Given the description of an element on the screen output the (x, y) to click on. 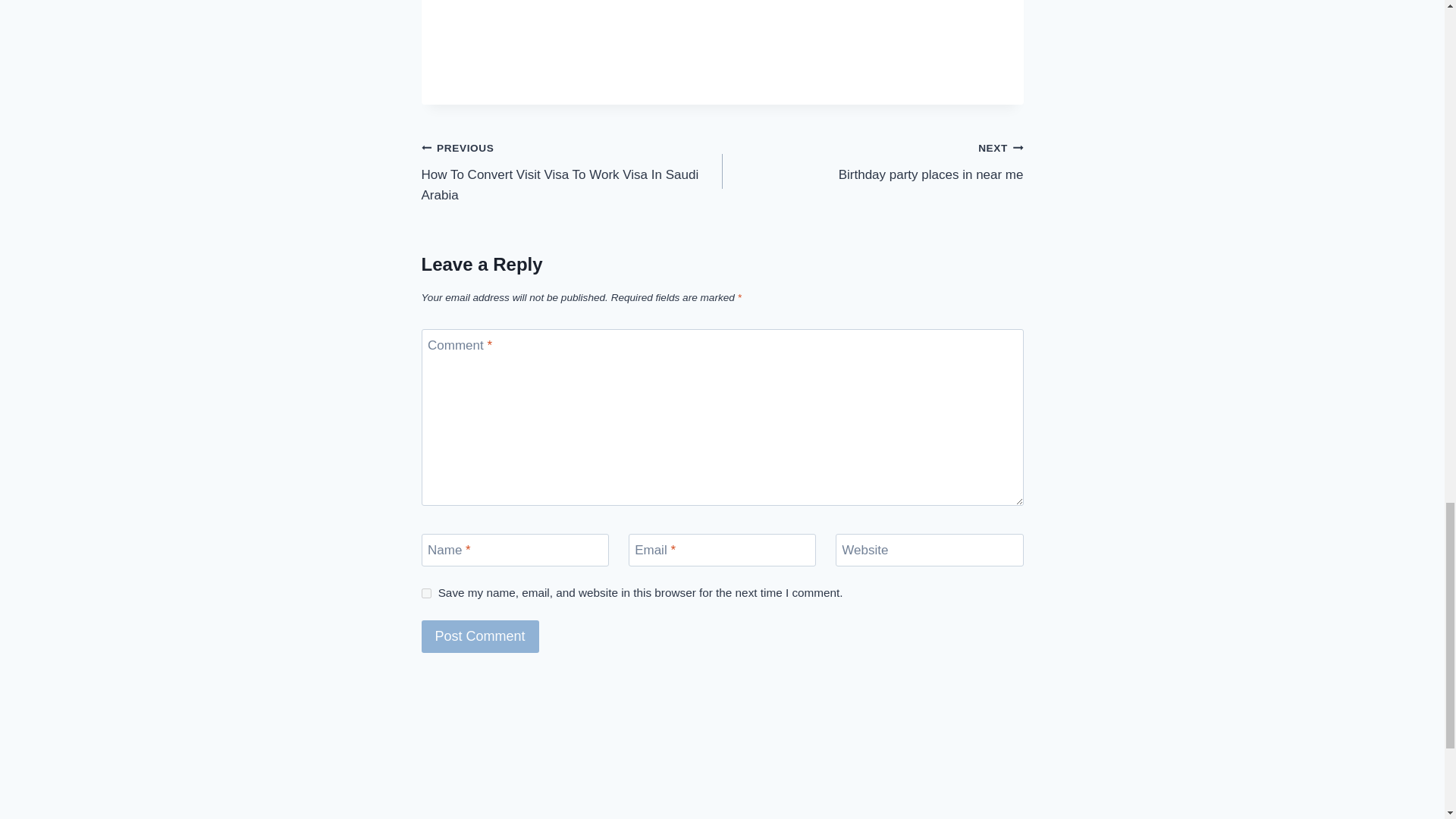
yes (426, 593)
Post Comment (480, 635)
Post Comment (872, 161)
